Given the description of an element on the screen output the (x, y) to click on. 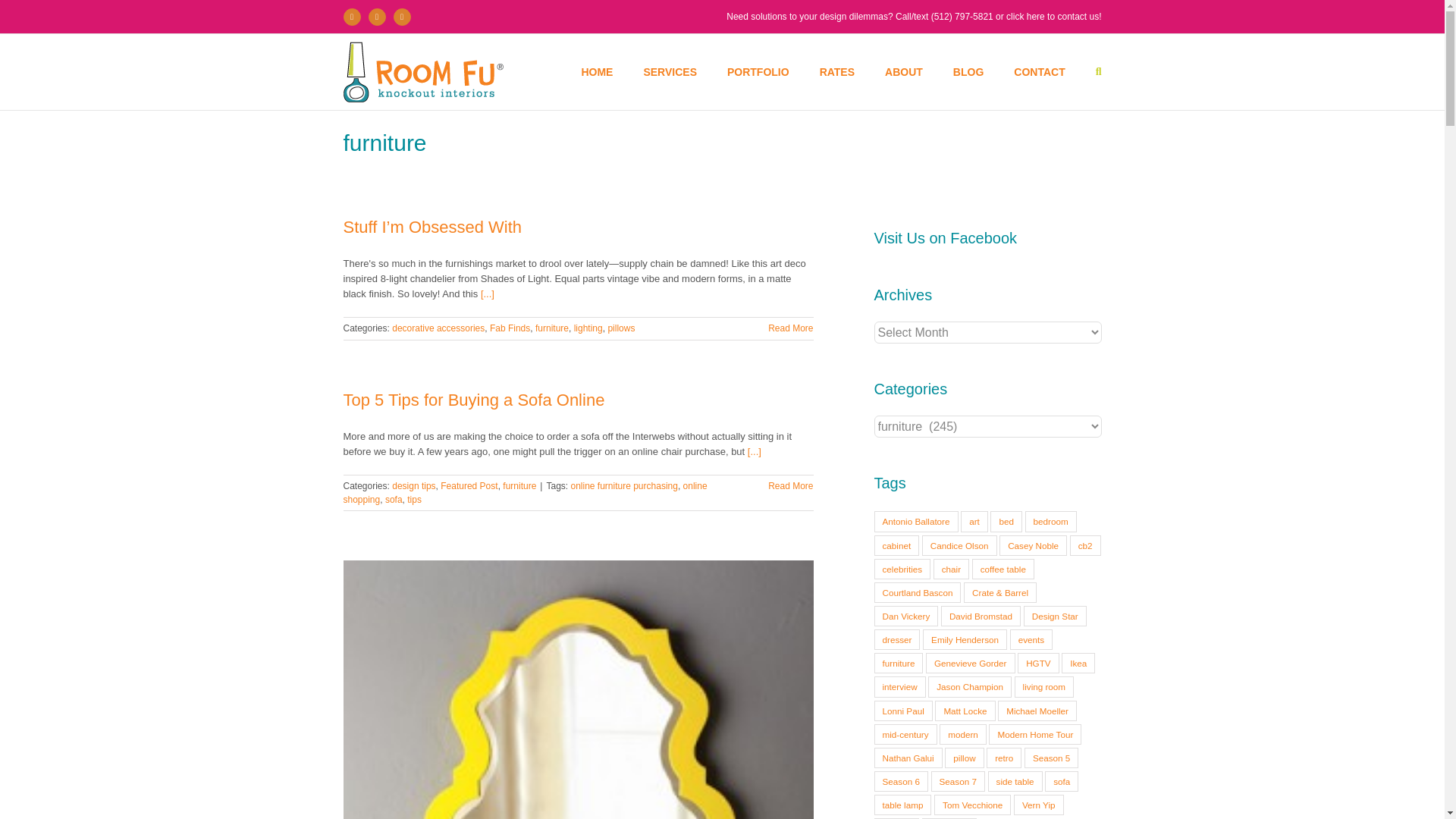
Facebook (350, 16)
Pinterest (401, 16)
Fab Finds (509, 327)
furniture (552, 327)
RATES (836, 71)
decorative accessories (437, 327)
PORTFOLIO (757, 71)
SERVICES (670, 71)
BLOG (968, 71)
Pinterest (401, 16)
